Given the description of an element on the screen output the (x, y) to click on. 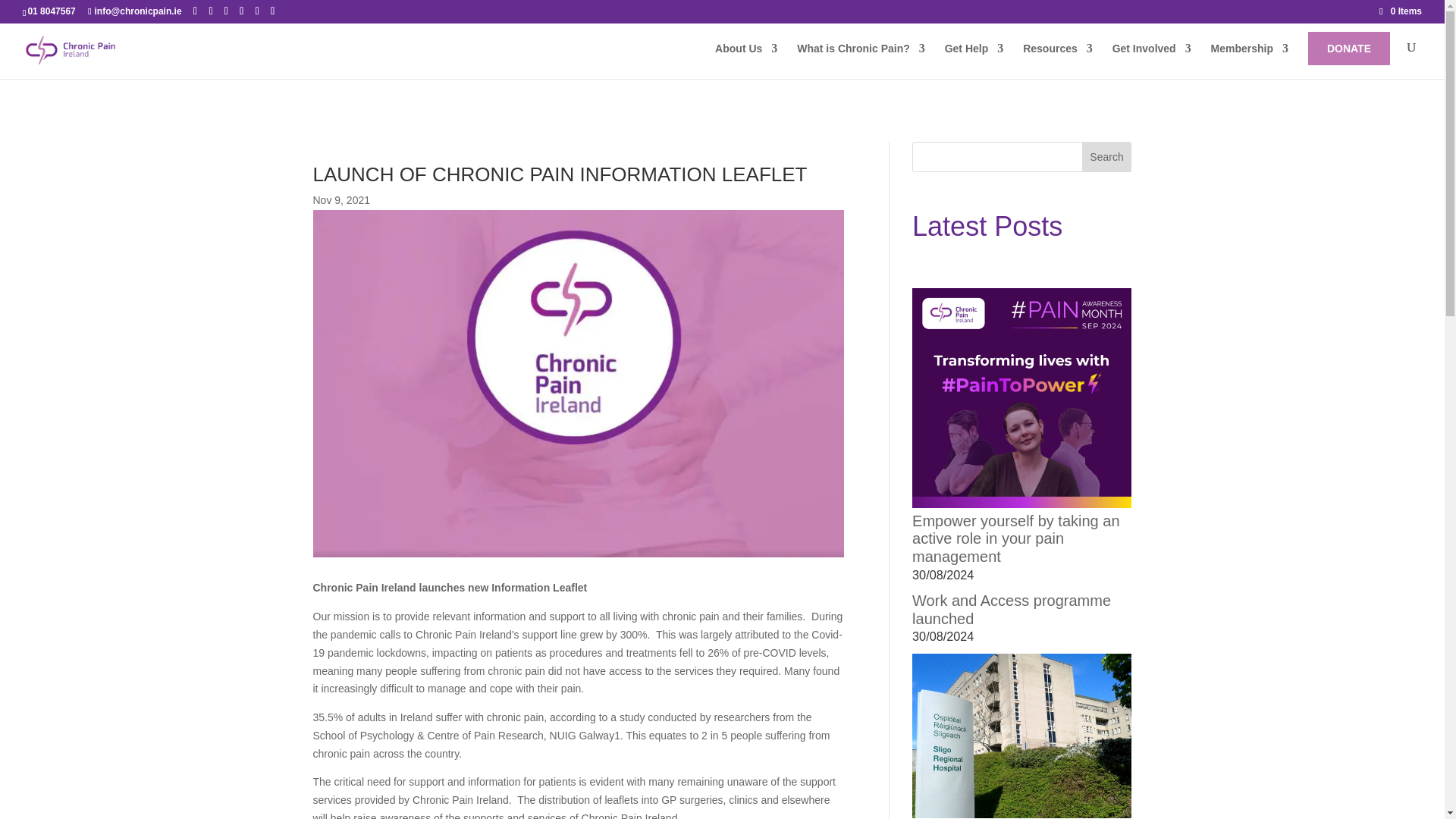
What is Chronic Pain? (860, 60)
Get Help (974, 60)
0 Items (1400, 10)
Resources (1058, 60)
Get Involved (1151, 60)
Search (1106, 156)
About Us (745, 60)
